Given the description of an element on the screen output the (x, y) to click on. 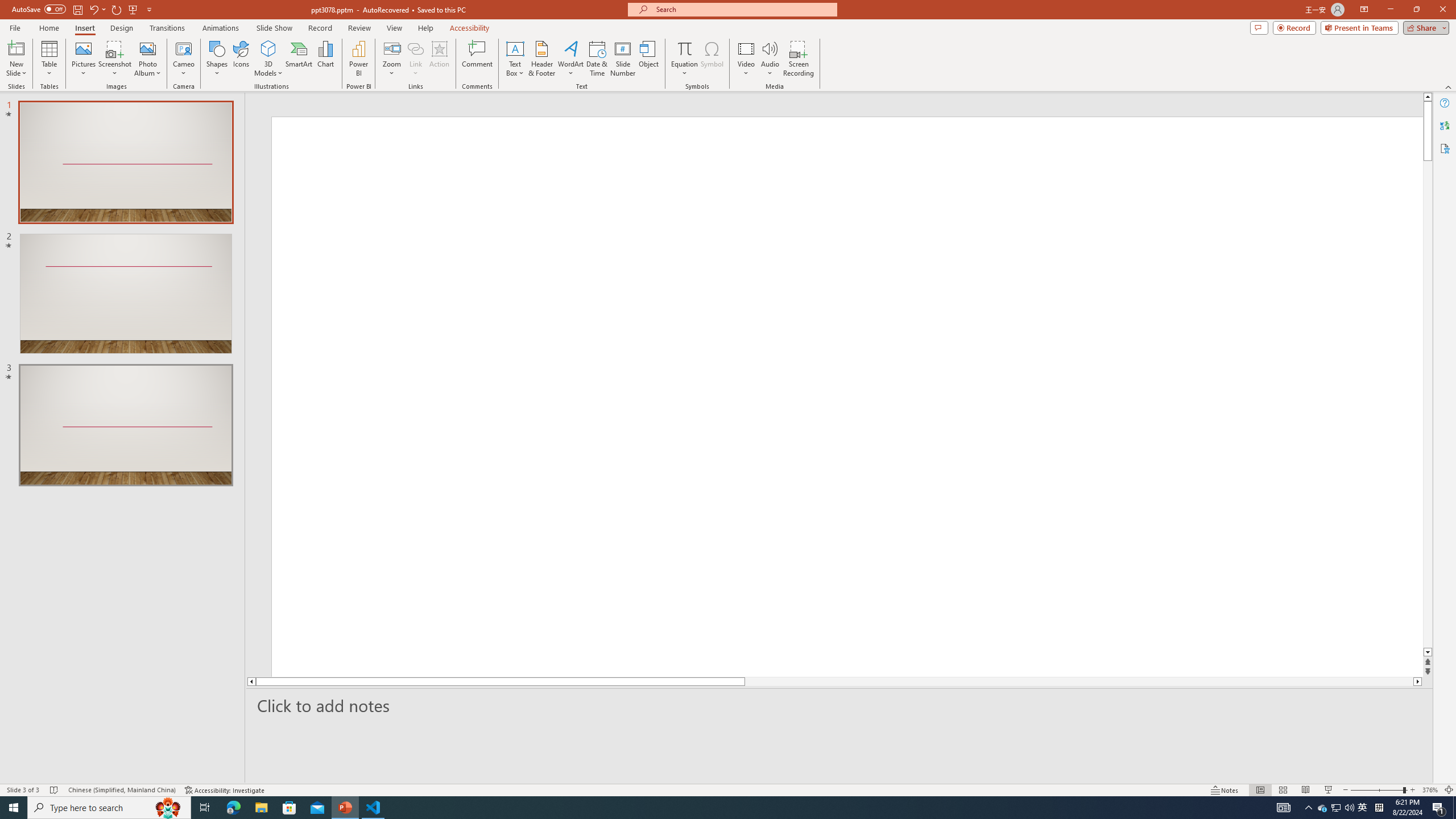
Zoom 376% (1430, 790)
Equation (683, 48)
Symbol... (711, 58)
Link (415, 48)
WordArt (570, 58)
